Given the description of an element on the screen output the (x, y) to click on. 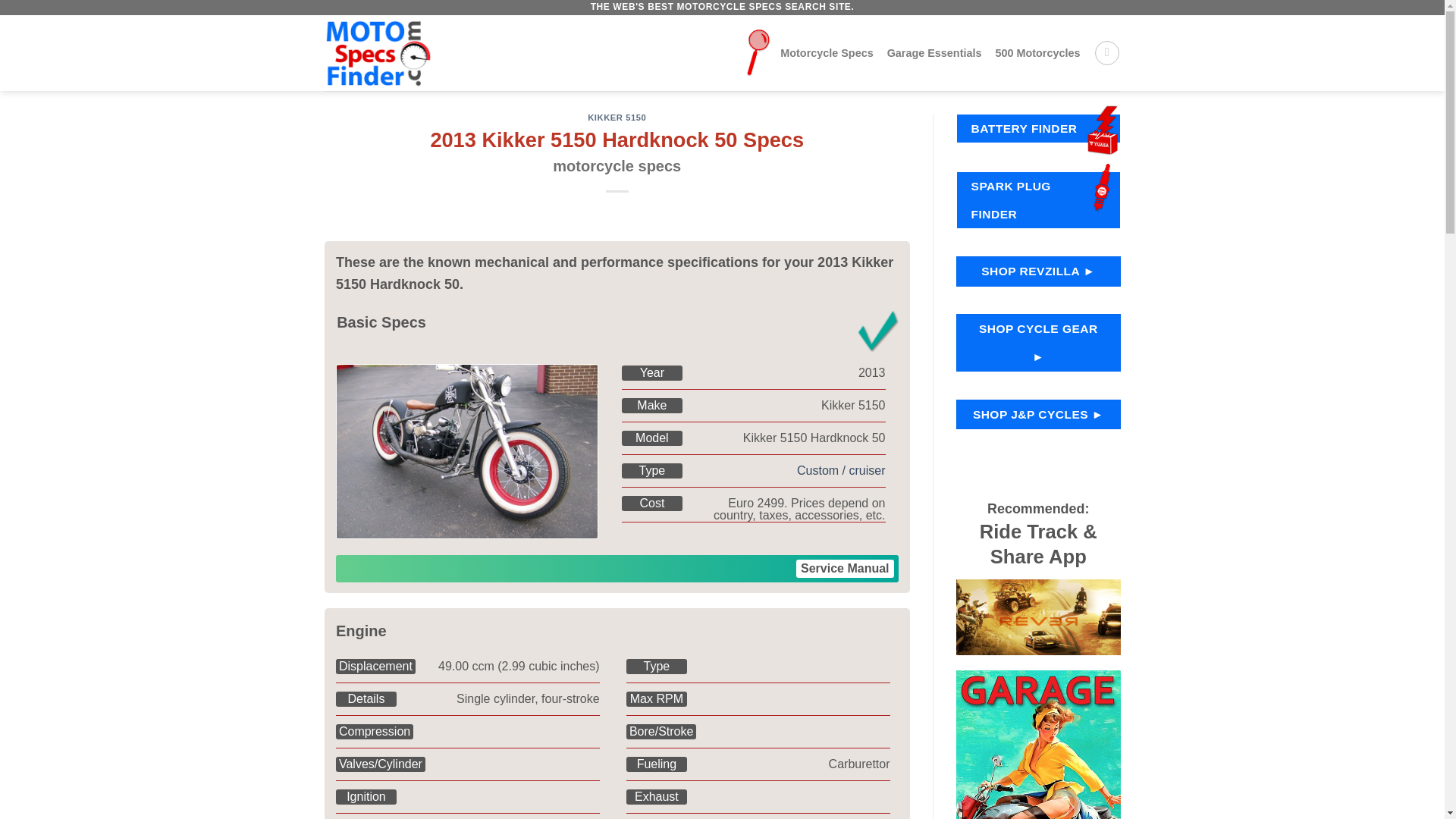
Motorcycle Specs (808, 52)
KIKKER 5150 (617, 117)
Shop motorcycle parts, accessories and gear on RevZilla. (1038, 270)
Shop motorcycle parts, accessories and gear on Cycle Gear. (1038, 342)
Skip to content (617, 151)
500 Motorcycles (1037, 52)
Service Manual (1037, 52)
Garage Essentials (844, 568)
